Given the description of an element on the screen output the (x, y) to click on. 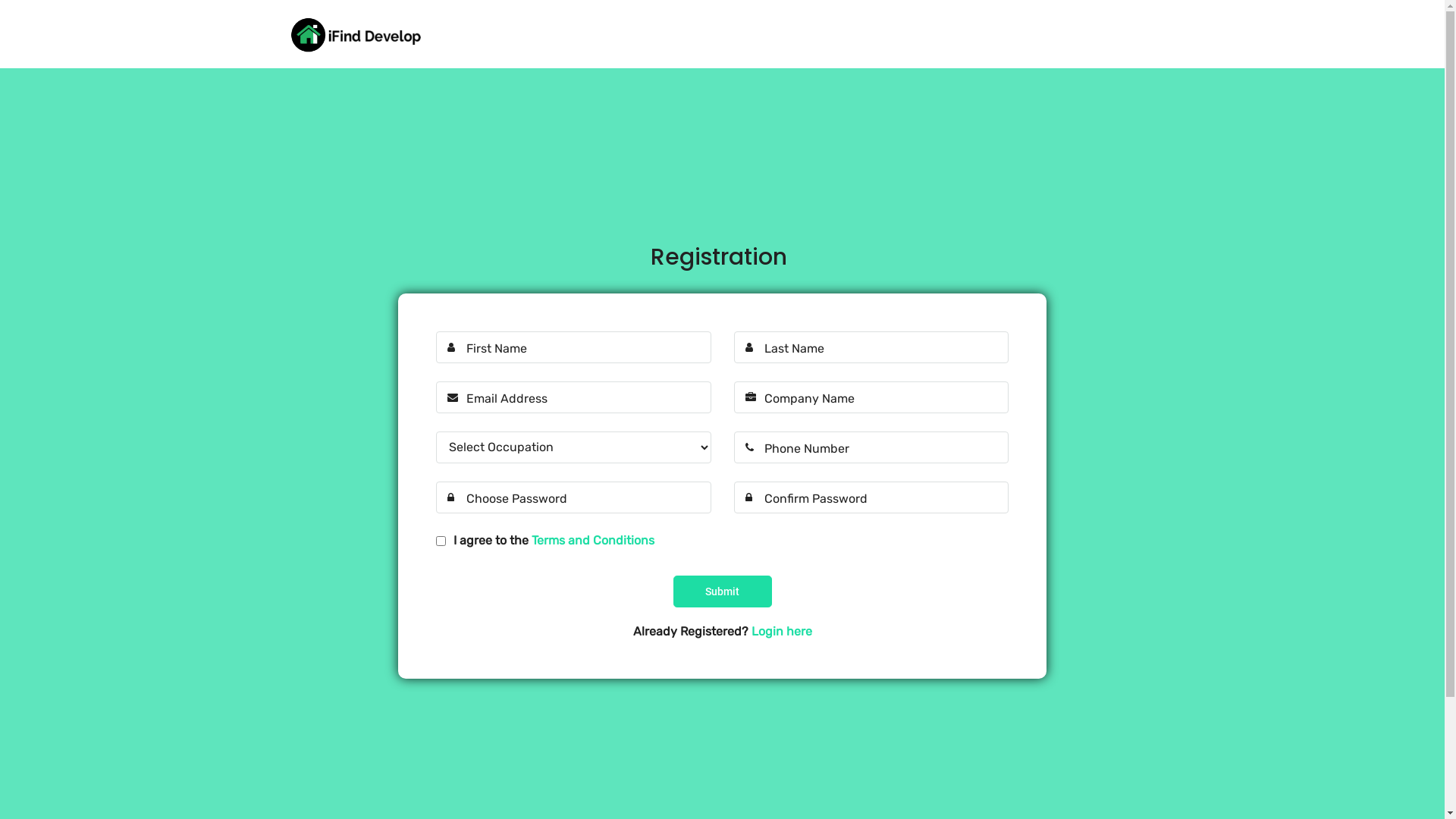
Terms and Conditions Element type: text (592, 539)
Login here Element type: text (780, 630)
Submit Element type: text (722, 590)
